Given the description of an element on the screen output the (x, y) to click on. 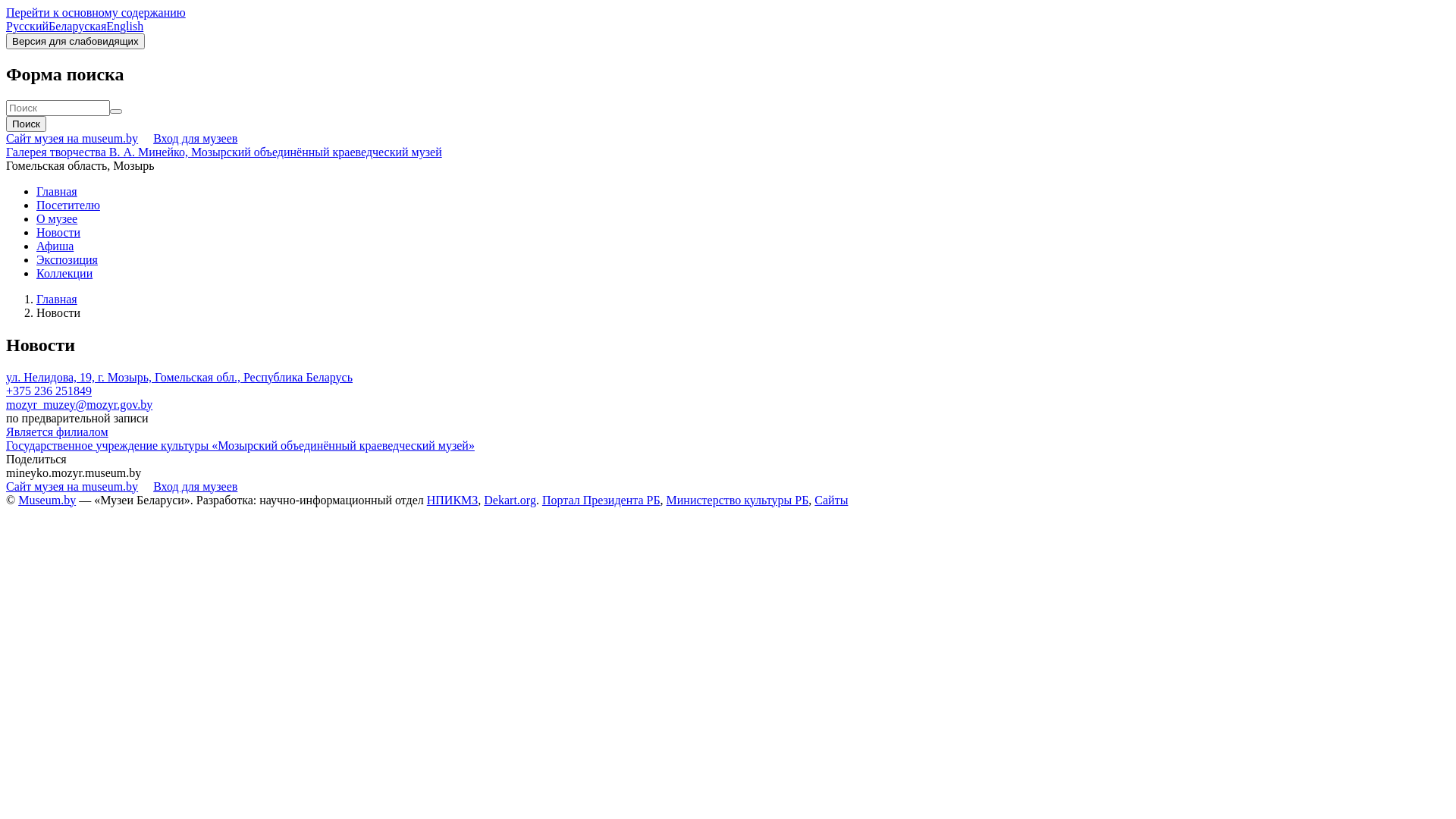
English Element type: text (124, 25)
mozyr_muzey@mozyr.gov.by Element type: text (79, 404)
Dekart.org Element type: text (509, 499)
+375 236 251849 Element type: text (48, 390)
Museum.by Element type: text (46, 499)
